Given the description of an element on the screen output the (x, y) to click on. 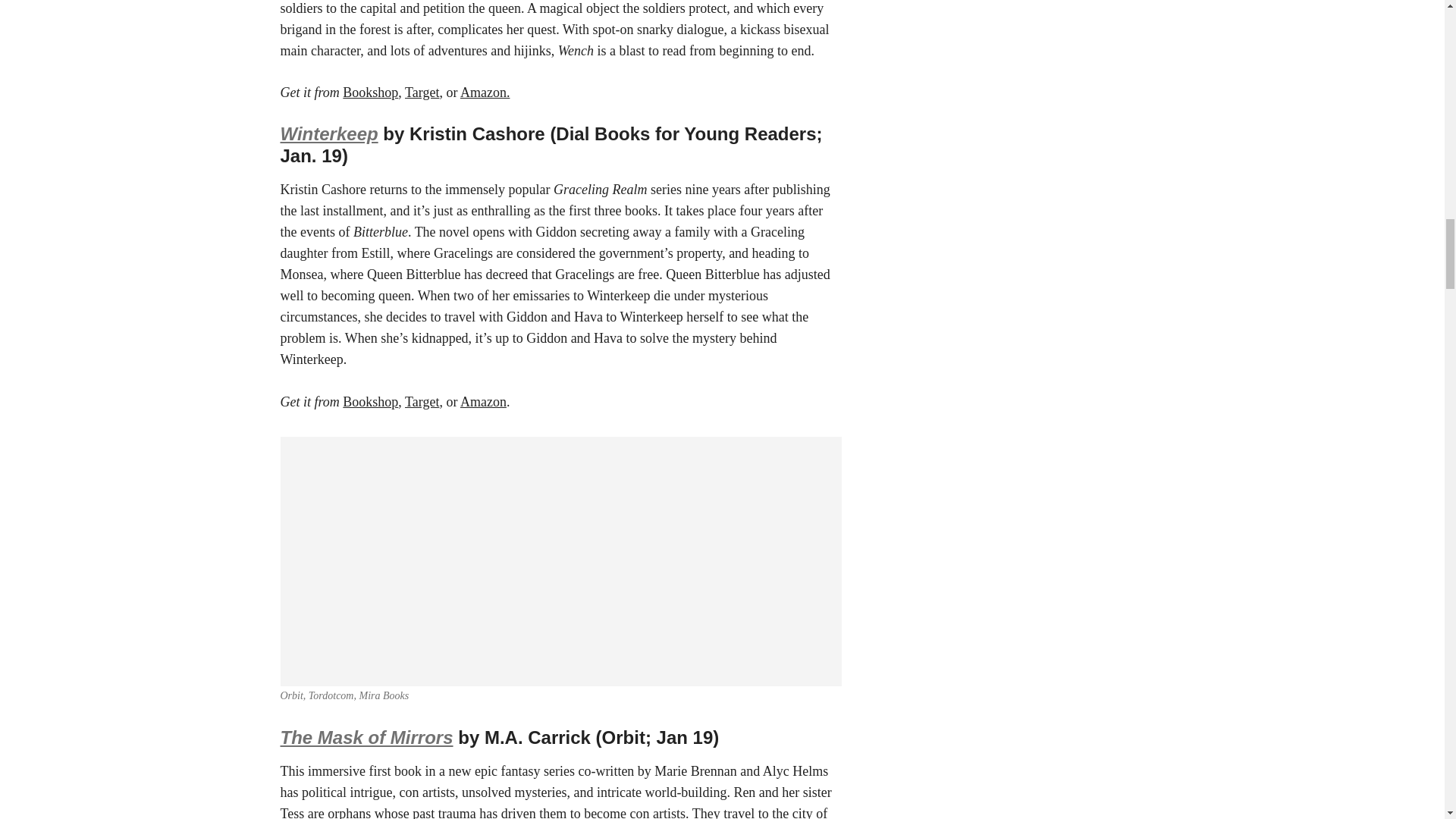
Amazon. (484, 92)
The Mask of Mirrors (366, 737)
Amazon (483, 401)
Target (421, 92)
Winterkeep (329, 133)
Bookshop (369, 92)
Bookshop (369, 401)
Target (421, 401)
